Given the description of an element on the screen output the (x, y) to click on. 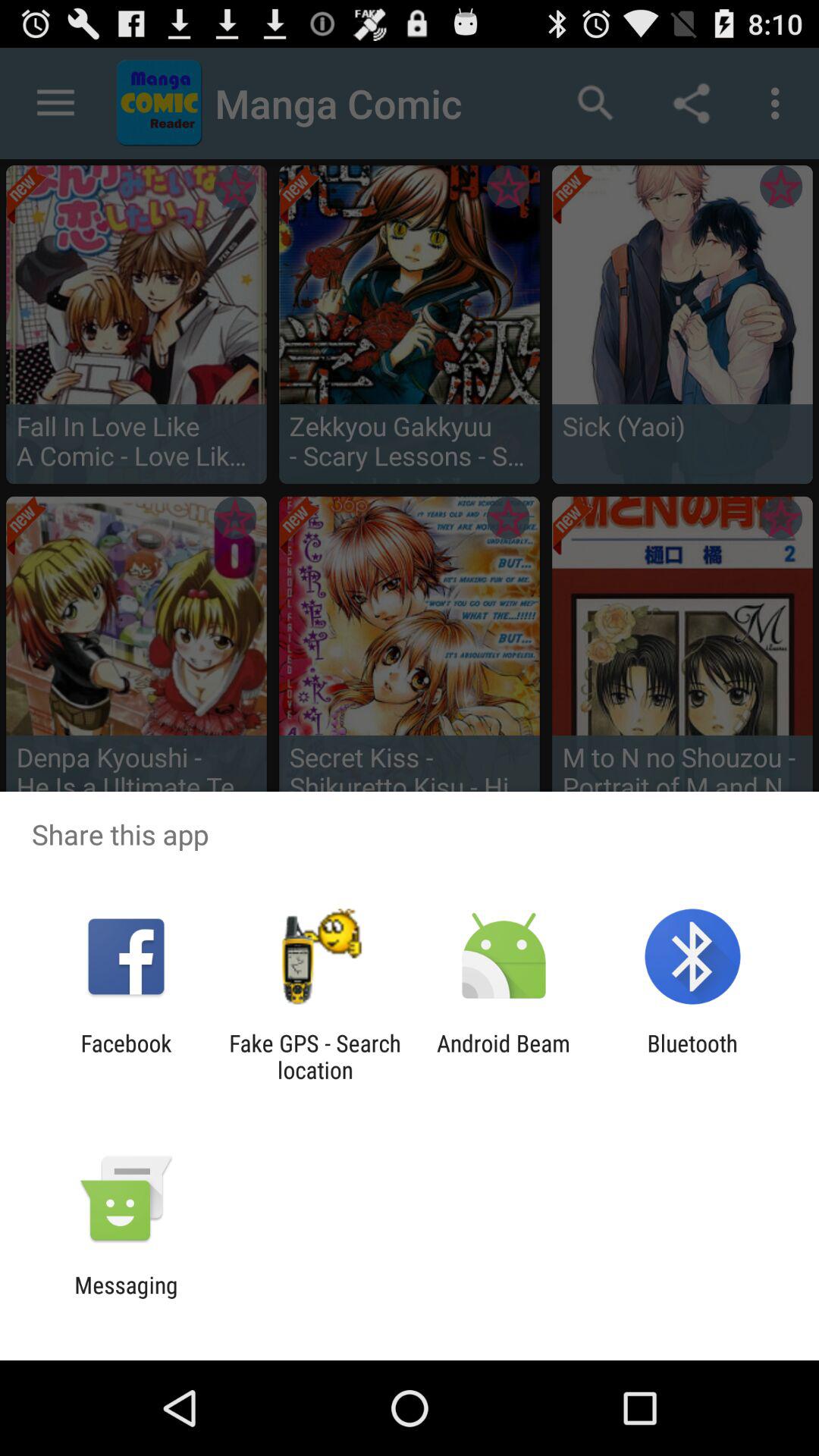
turn on the app next to bluetooth app (503, 1056)
